Given the description of an element on the screen output the (x, y) to click on. 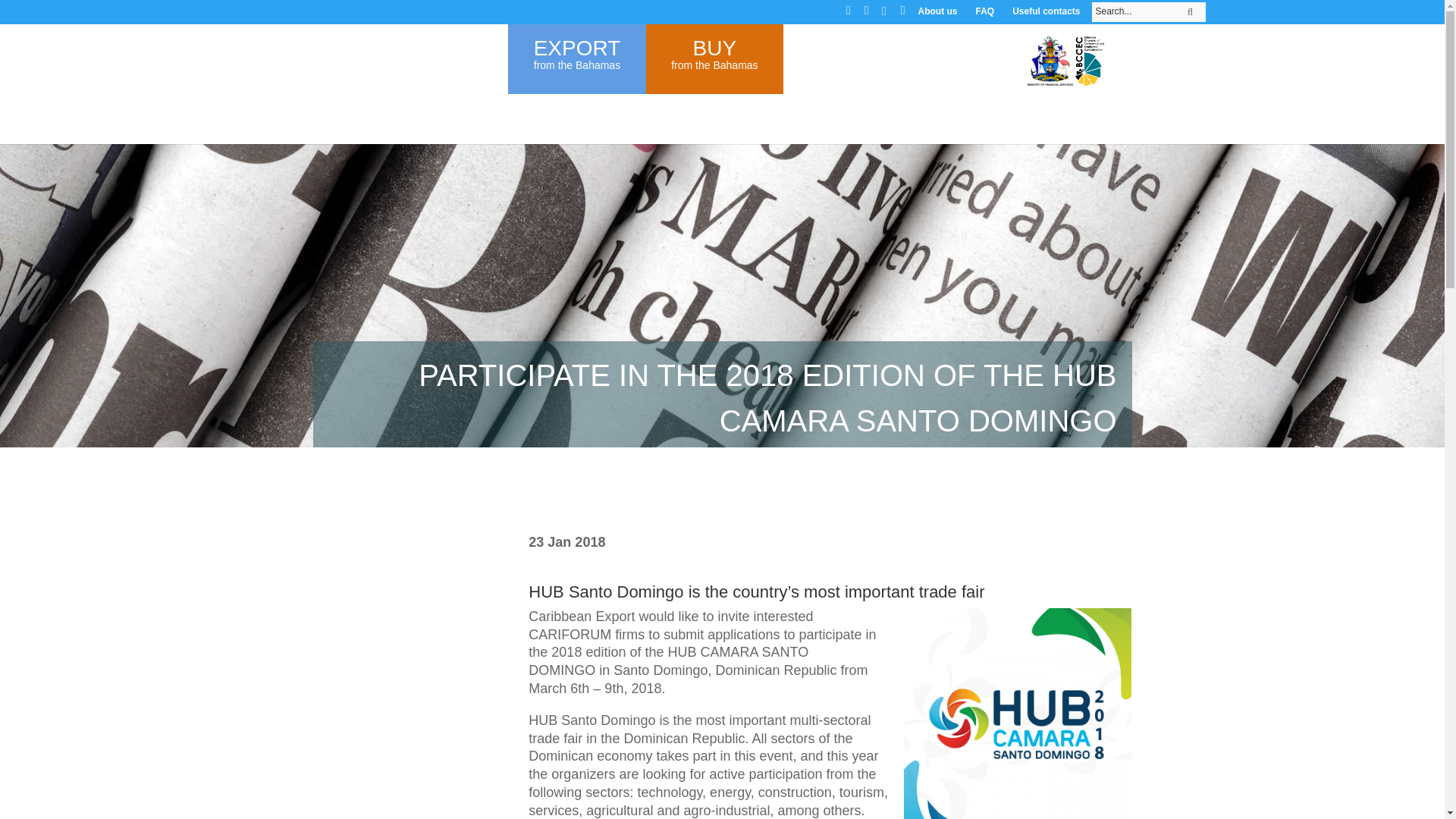
EXPORT (577, 47)
FAQ (984, 6)
from the Bahamas (722, 12)
HOME (897, 65)
About us (577, 64)
FAQ (474, 130)
Useful contacts (897, 42)
from the Bahamas (897, 56)
TRADE INFORMATION (897, 71)
Useful contacts (714, 64)
EXPORTER TOOLKIT (722, 130)
About us (1046, 6)
BUY (574, 130)
